Given the description of an element on the screen output the (x, y) to click on. 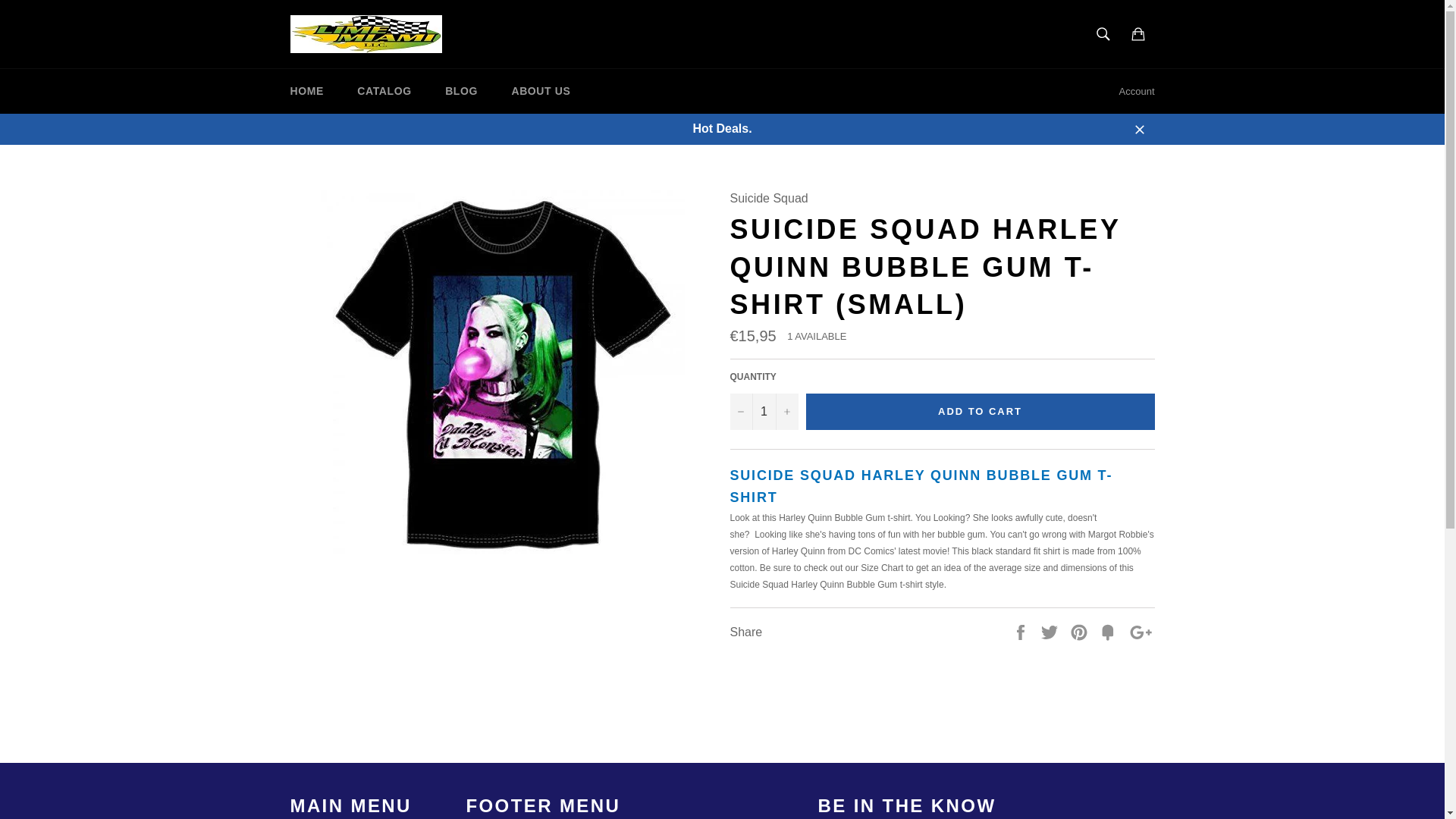
Cart (1138, 33)
ADD TO CART (979, 411)
BLOG (461, 90)
Fancy (1109, 631)
1 (763, 411)
Share (1021, 631)
Account (1136, 91)
HOME (306, 90)
ABOUT US (540, 90)
Tweet (1051, 631)
Close (1139, 128)
Search (1103, 33)
CATALOG (384, 90)
Pin it (1080, 631)
